Given the description of an element on the screen output the (x, y) to click on. 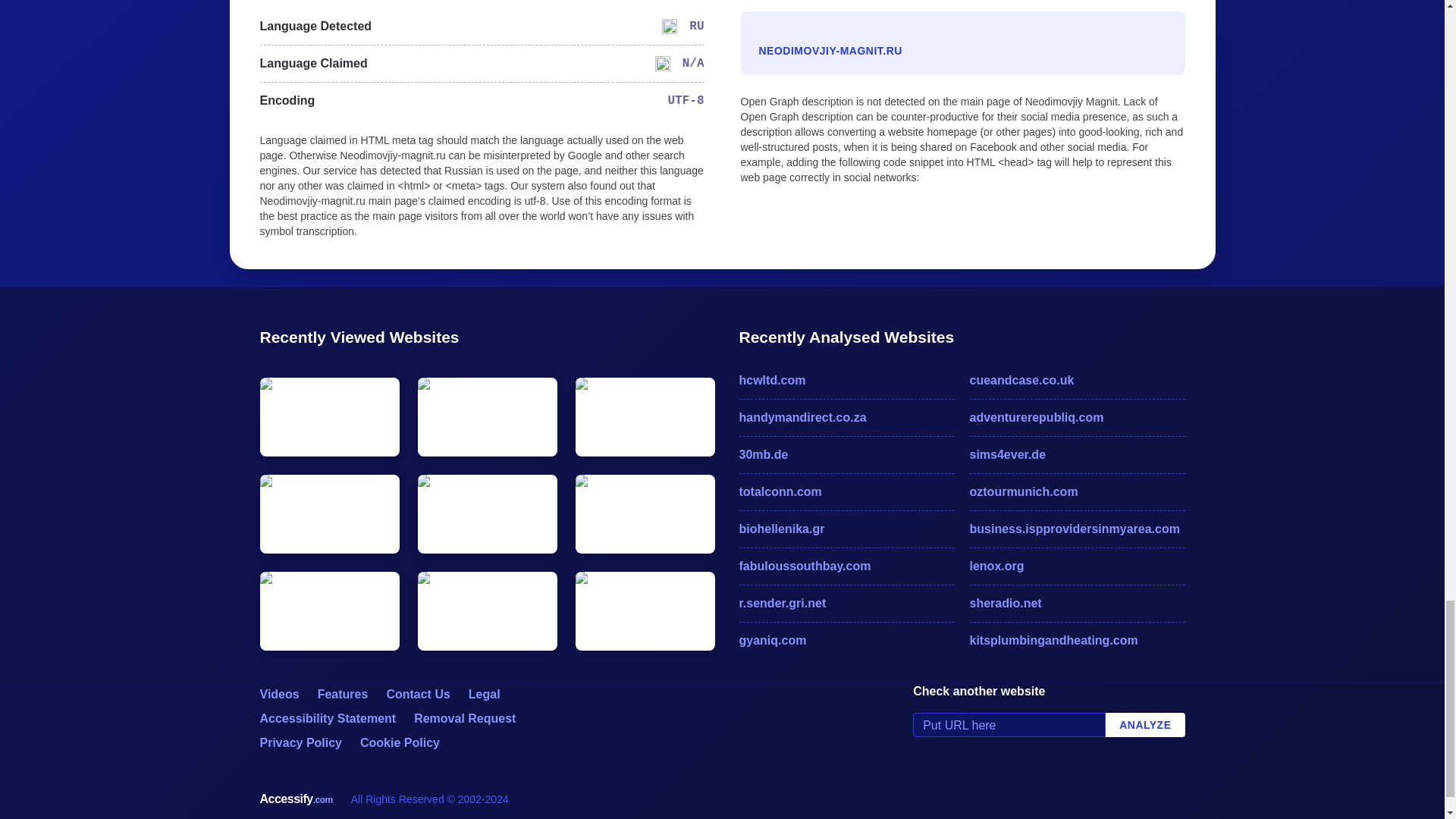
30mb.de (845, 454)
lenox.org (1077, 566)
sims4ever.de (1077, 454)
adventurerepubliq.com (1077, 417)
sheradio.net (1077, 603)
cueandcase.co.uk (1077, 380)
totalconn.com (845, 492)
Screencasts: video tutorials and guides (278, 694)
fabuloussouthbay.com (845, 566)
biohellenika.gr (845, 529)
hcwltd.com (845, 380)
r.sender.gri.net (845, 603)
oztourmunich.com (1077, 492)
Videos (278, 694)
